Given the description of an element on the screen output the (x, y) to click on. 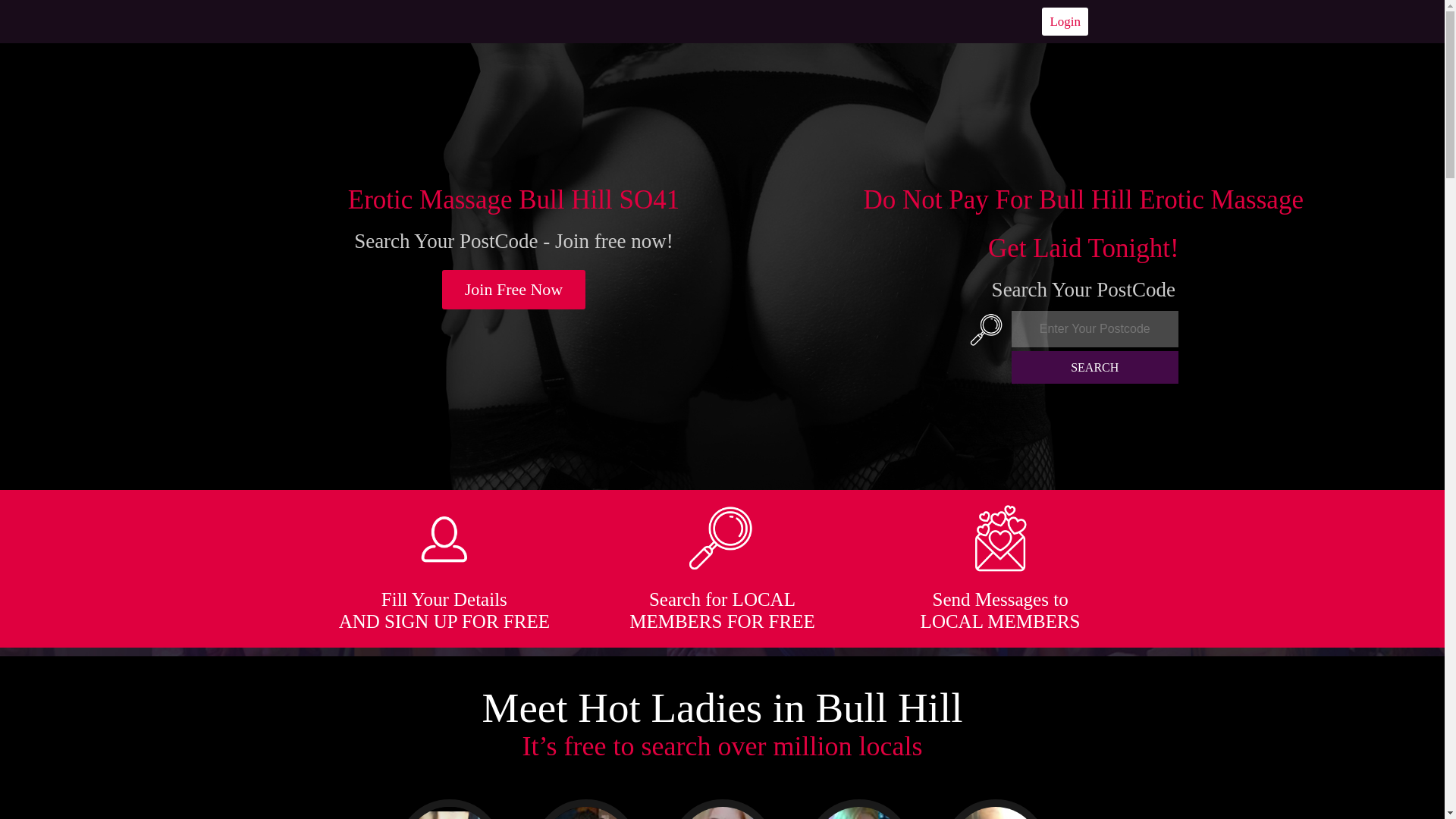
Login (1064, 21)
SEARCH (1094, 367)
Join Free Now (514, 289)
Login (1064, 21)
Join (514, 289)
